Given the description of an element on the screen output the (x, y) to click on. 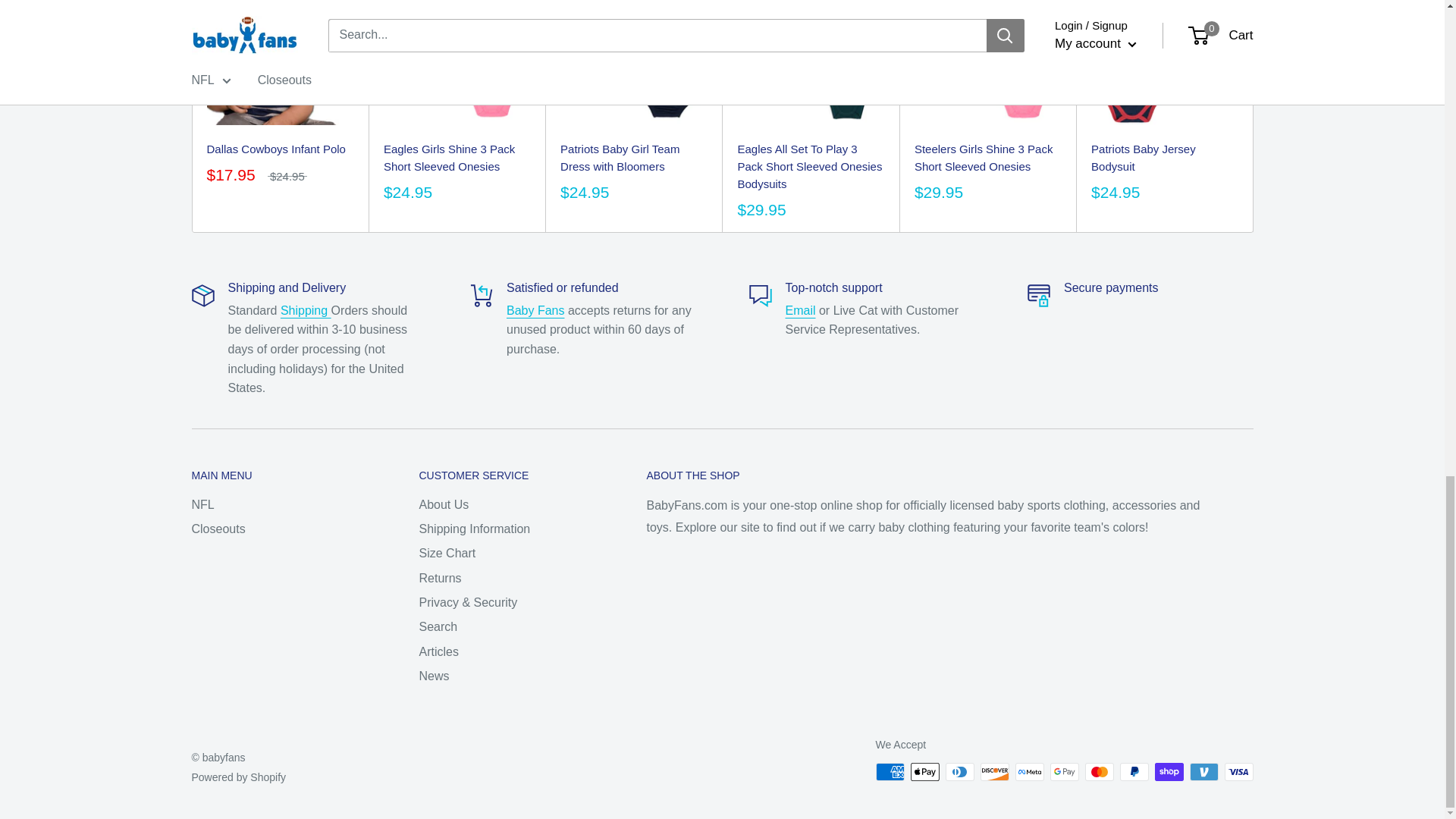
Returns (535, 309)
Contact Us (800, 309)
Shipping Policy (306, 309)
